Given the description of an element on the screen output the (x, y) to click on. 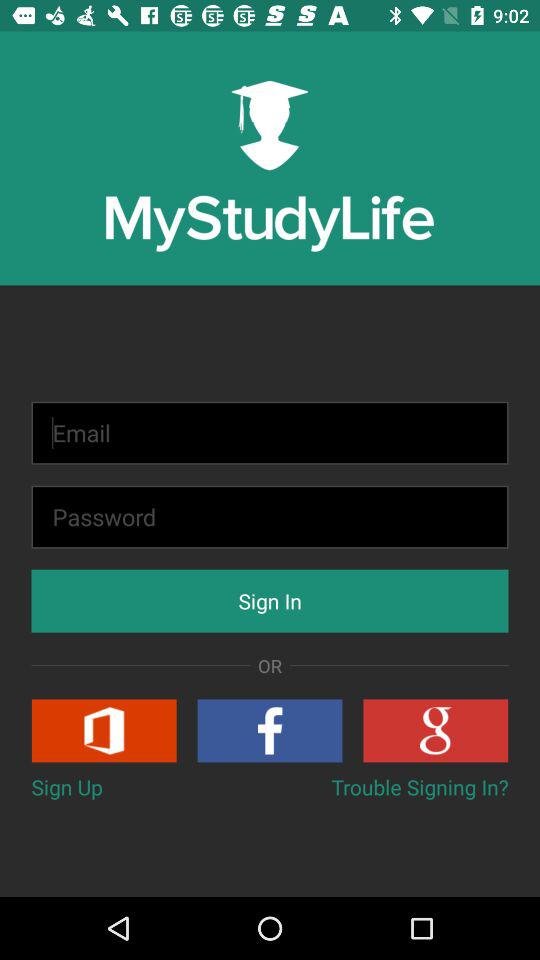
enter password (269, 516)
